Given the description of an element on the screen output the (x, y) to click on. 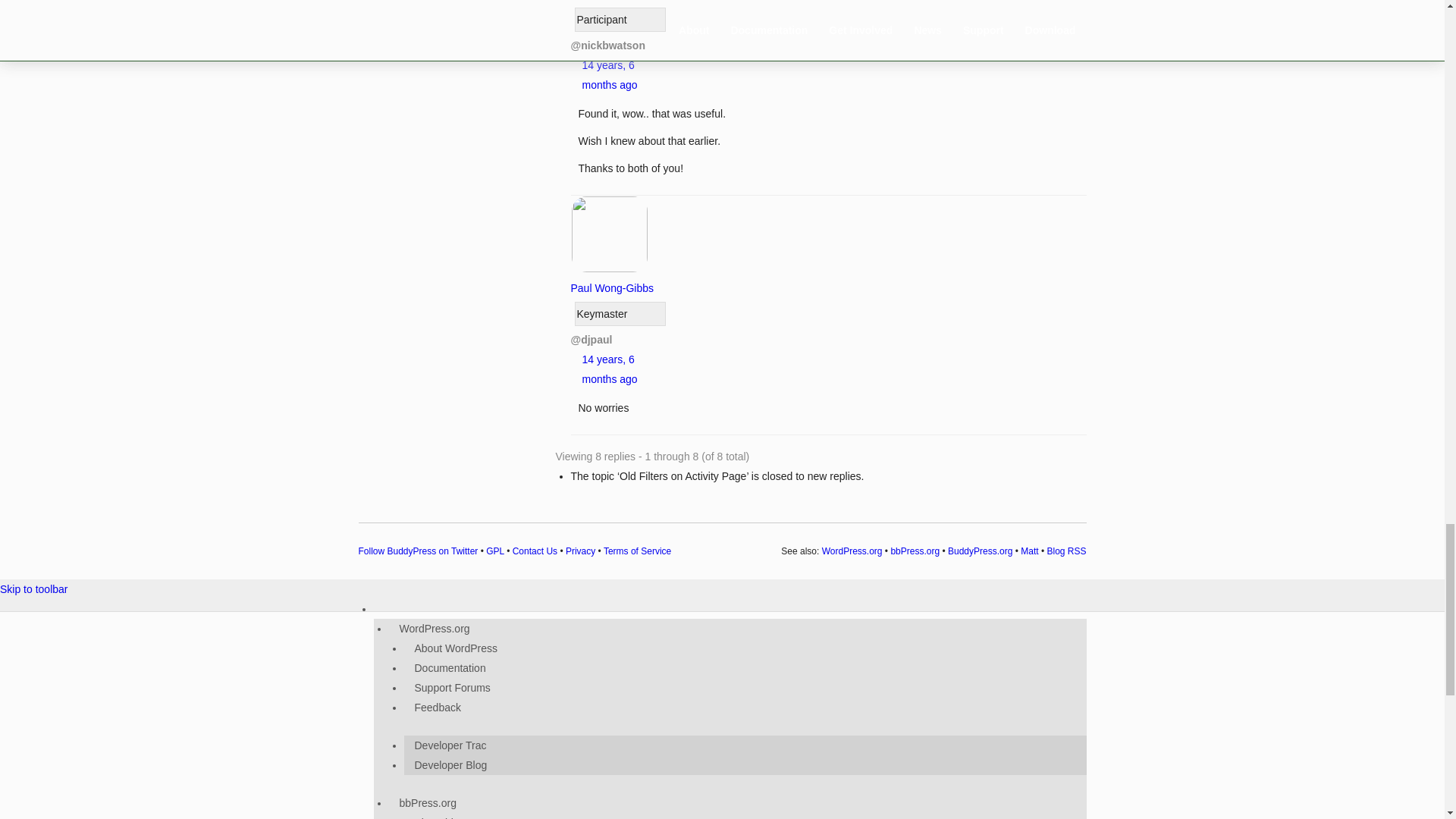
Paul Wong-Gibbs (611, 278)
14 years, 6 months ago (609, 368)
14 years, 6 months ago (609, 74)
